Given the description of an element on the screen output the (x, y) to click on. 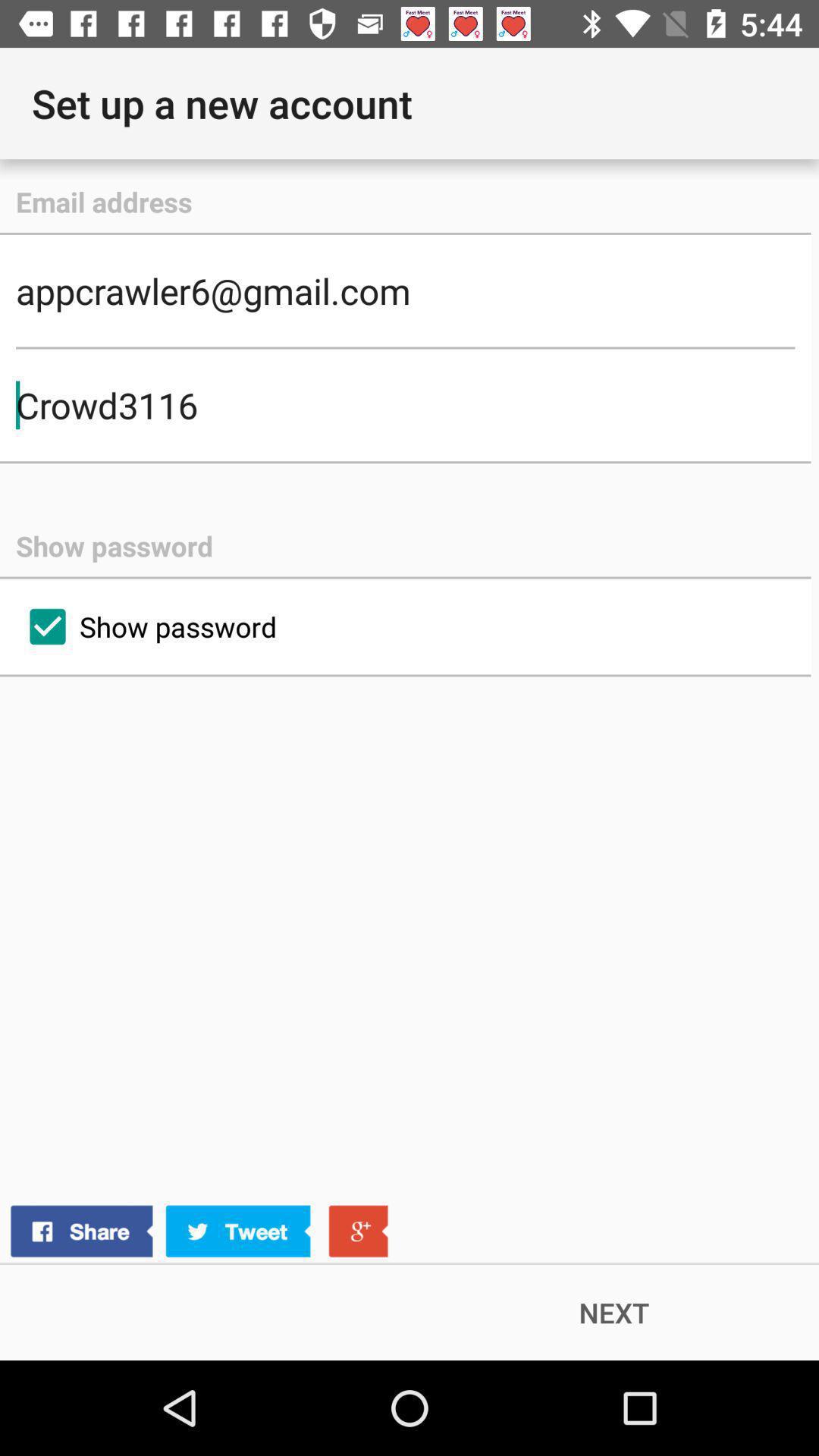
tap the next item (614, 1312)
